Given the description of an element on the screen output the (x, y) to click on. 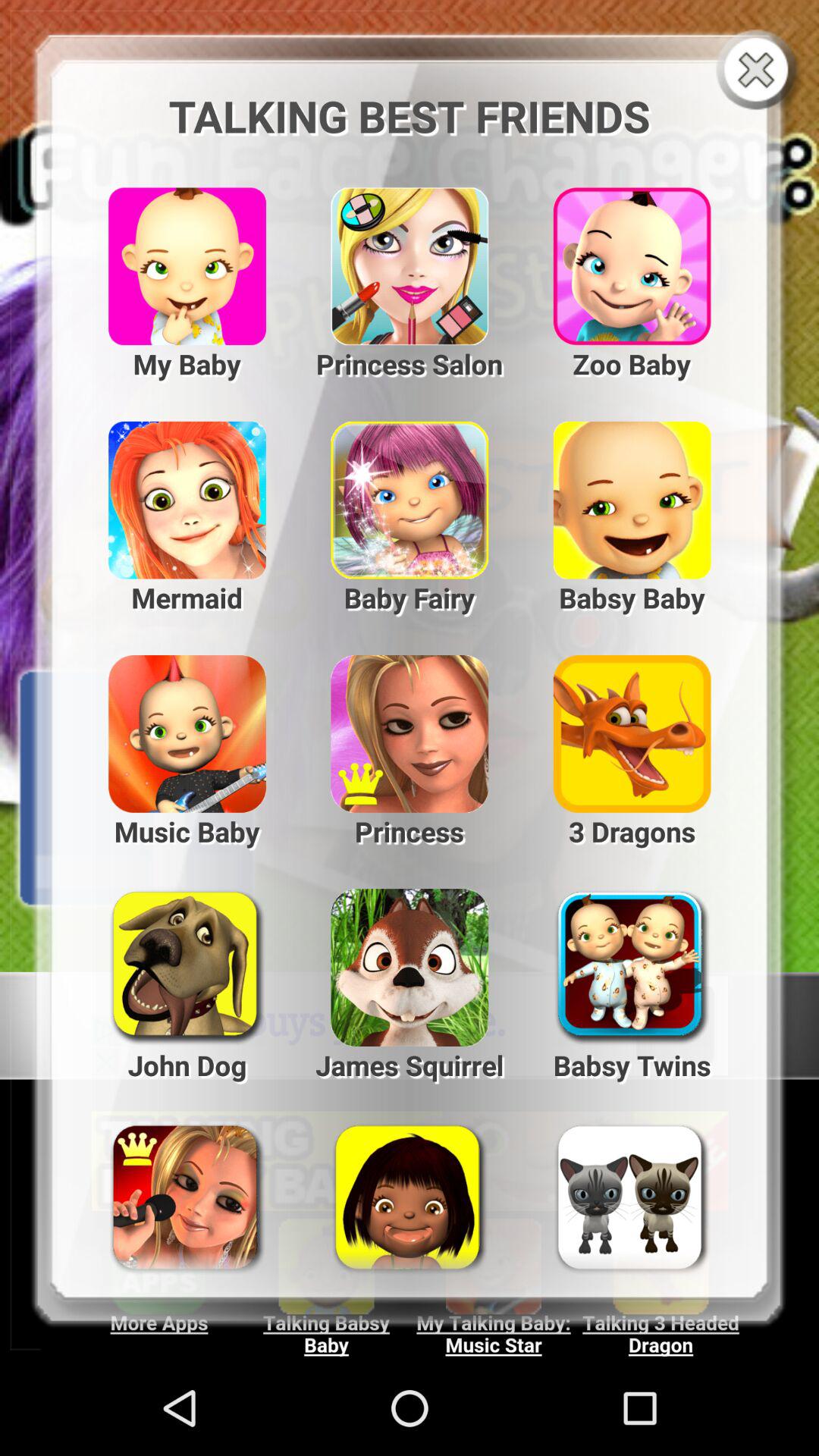
close app (759, 71)
